Given the description of an element on the screen output the (x, y) to click on. 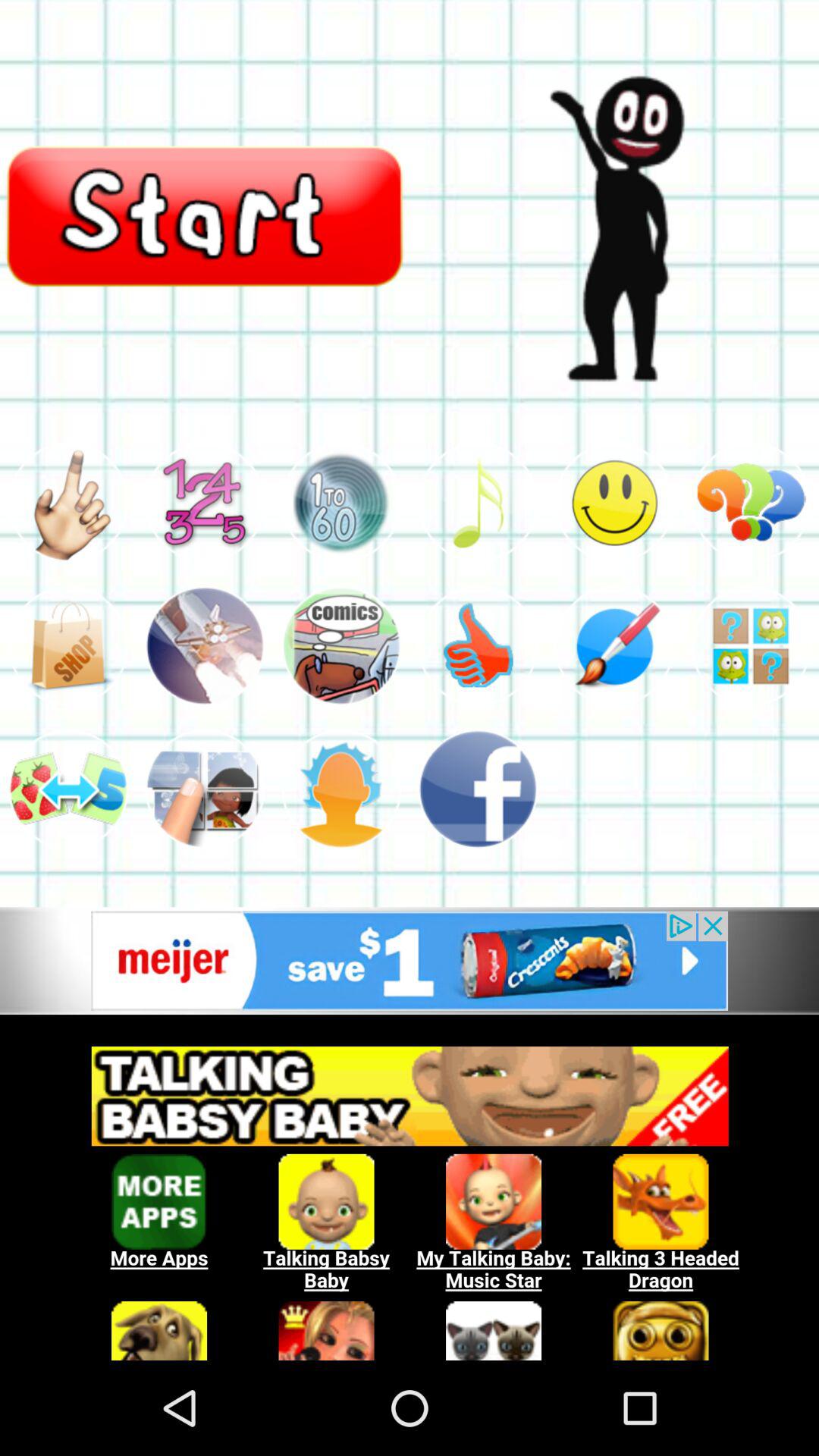
select group option (204, 789)
